Given the description of an element on the screen output the (x, y) to click on. 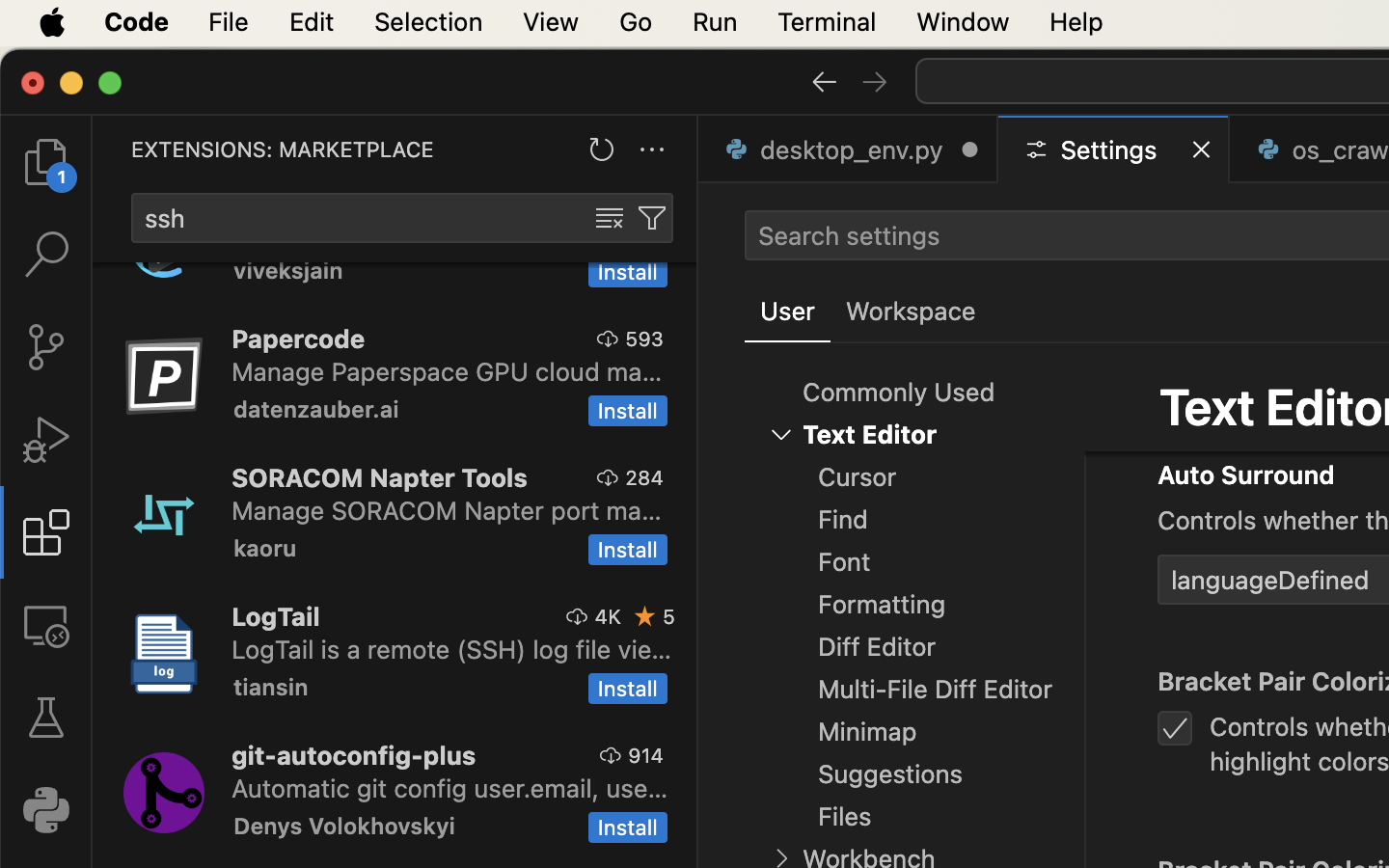
viveksjain Element type: AXStaticText (288, 272)
EXTENSIONS: MARKETPLACE Element type: AXStaticText (282, 149)
 Element type: AXStaticText (780, 433)
Multi-File Diff Editor Element type: AXStaticText (935, 689)
0  Element type: AXRadioButton (46, 624)
